Given the description of an element on the screen output the (x, y) to click on. 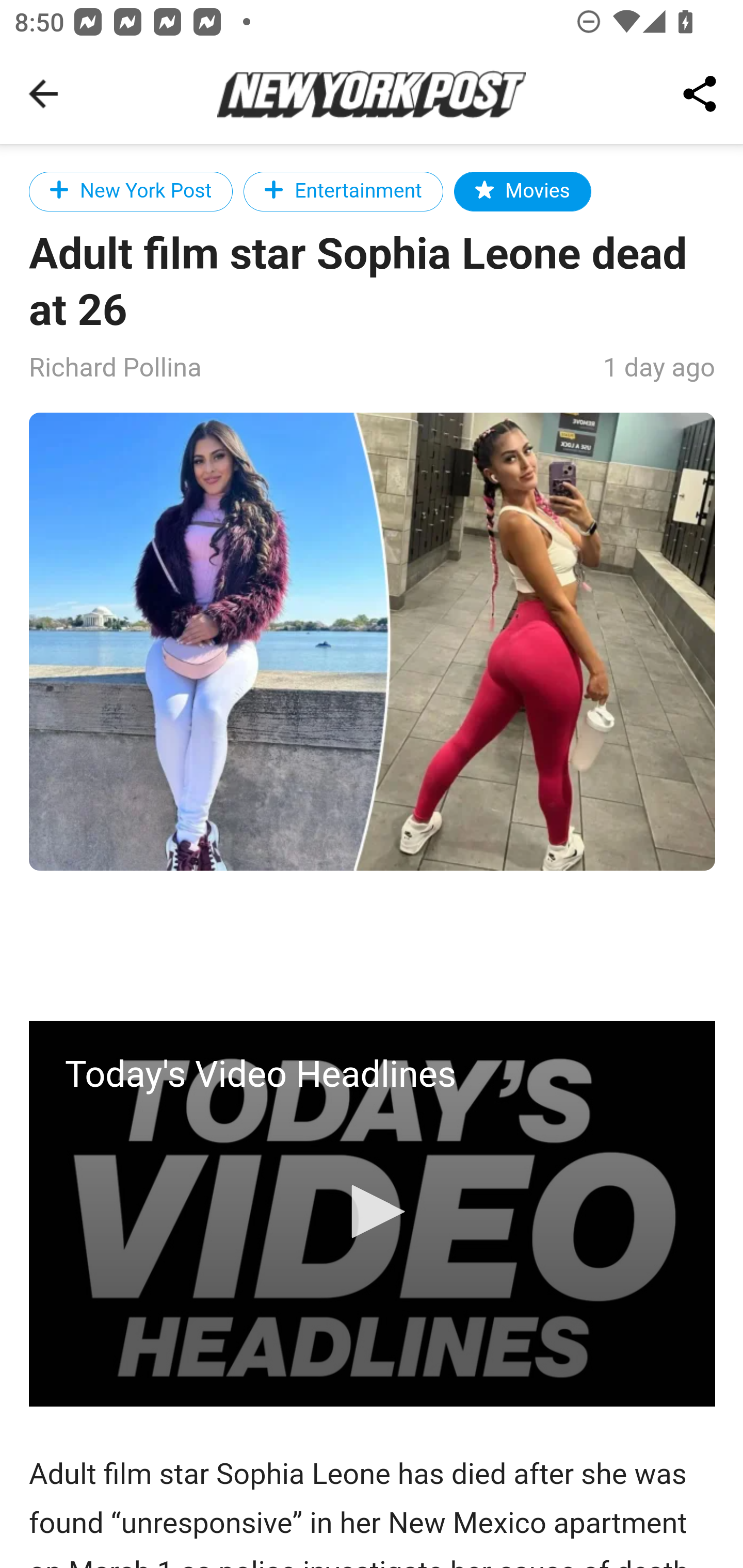
New York Post (131, 191)
Entertainment (343, 191)
Movies (522, 191)
Play (372, 1210)
